Given the description of an element on the screen output the (x, y) to click on. 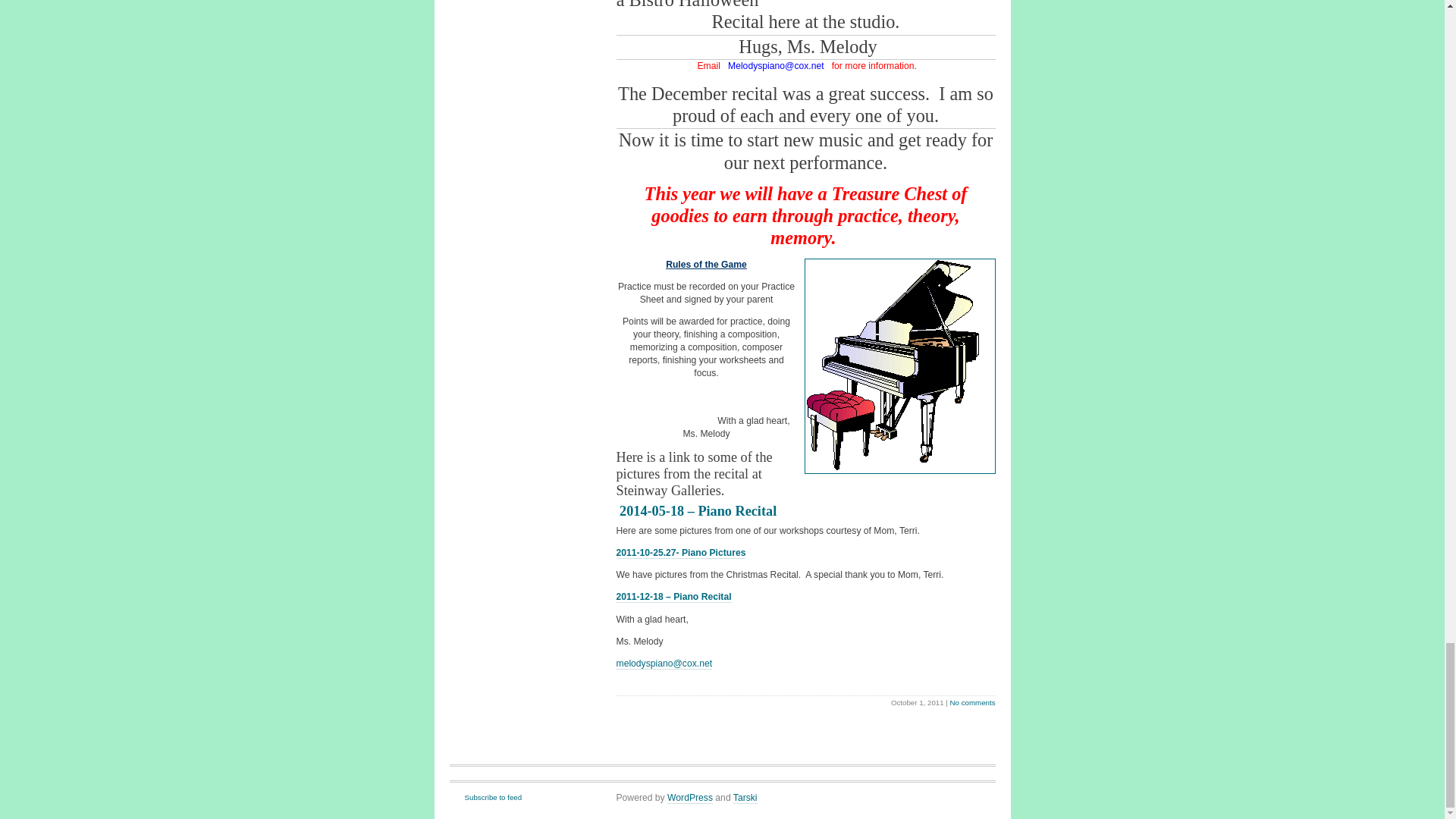
Tarski (745, 797)
2011-10-25.27- Piano Pictures (680, 552)
No comments (972, 702)
Subscribe to feed (484, 797)
WordPress (689, 797)
